Given the description of an element on the screen output the (x, y) to click on. 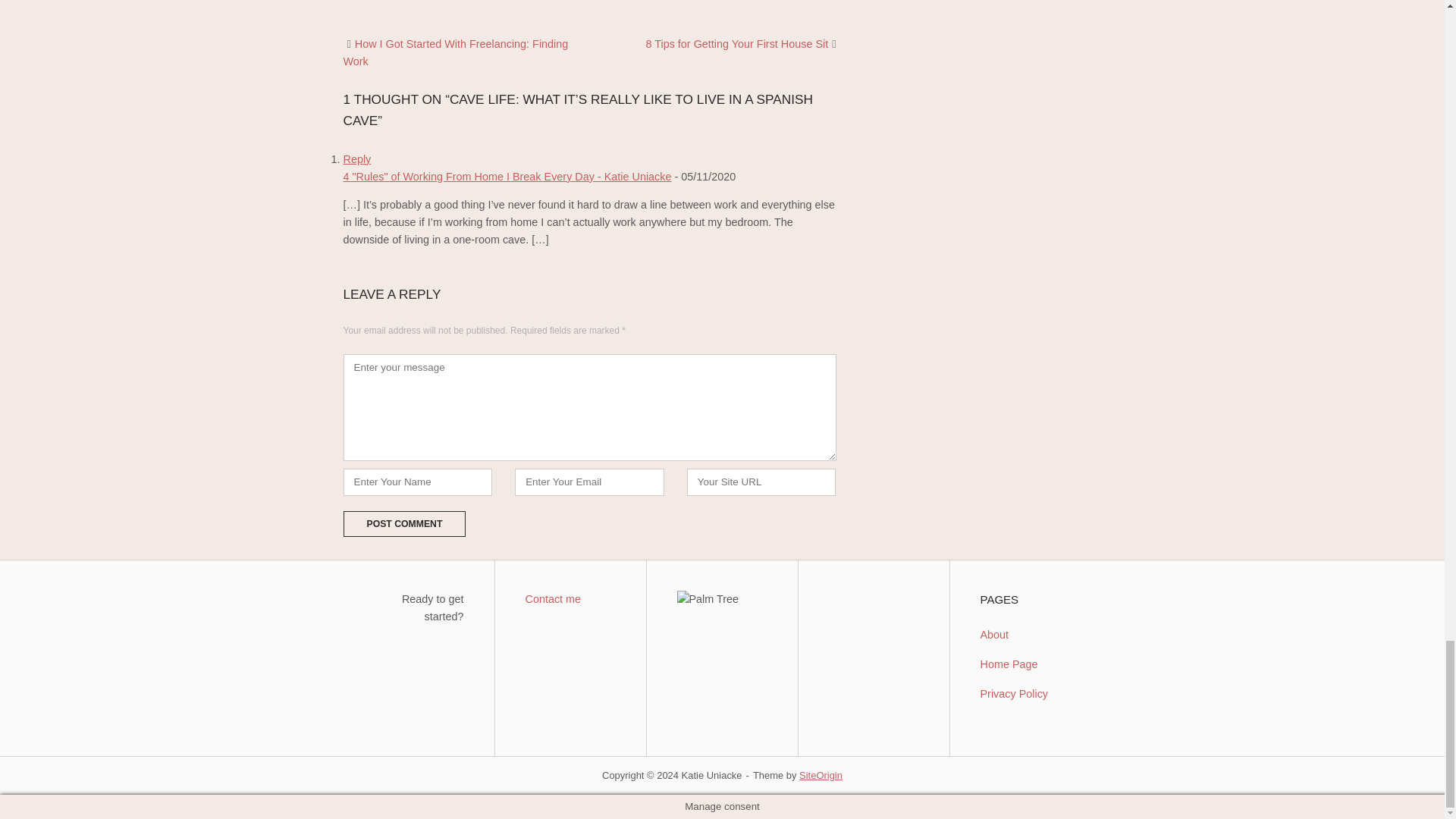
Reply (356, 159)
Post Comment (403, 524)
Post Comment (403, 524)
8 Tips for Getting Your First House Sit (736, 43)
How I Got Started With Freelancing: Finding Work (454, 52)
